Given the description of an element on the screen output the (x, y) to click on. 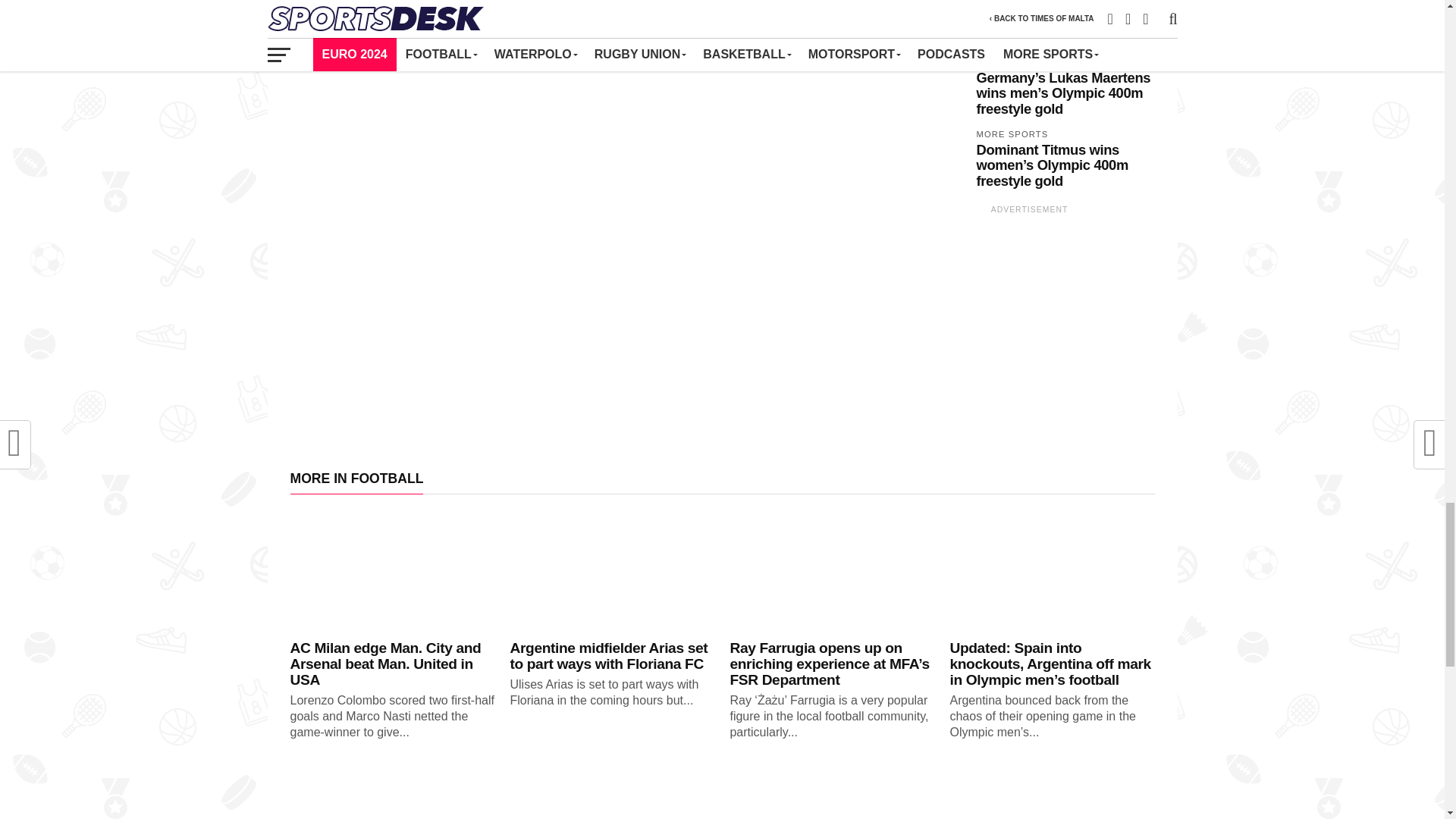
3rd party ad content (1028, 316)
